Given the description of an element on the screen output the (x, y) to click on. 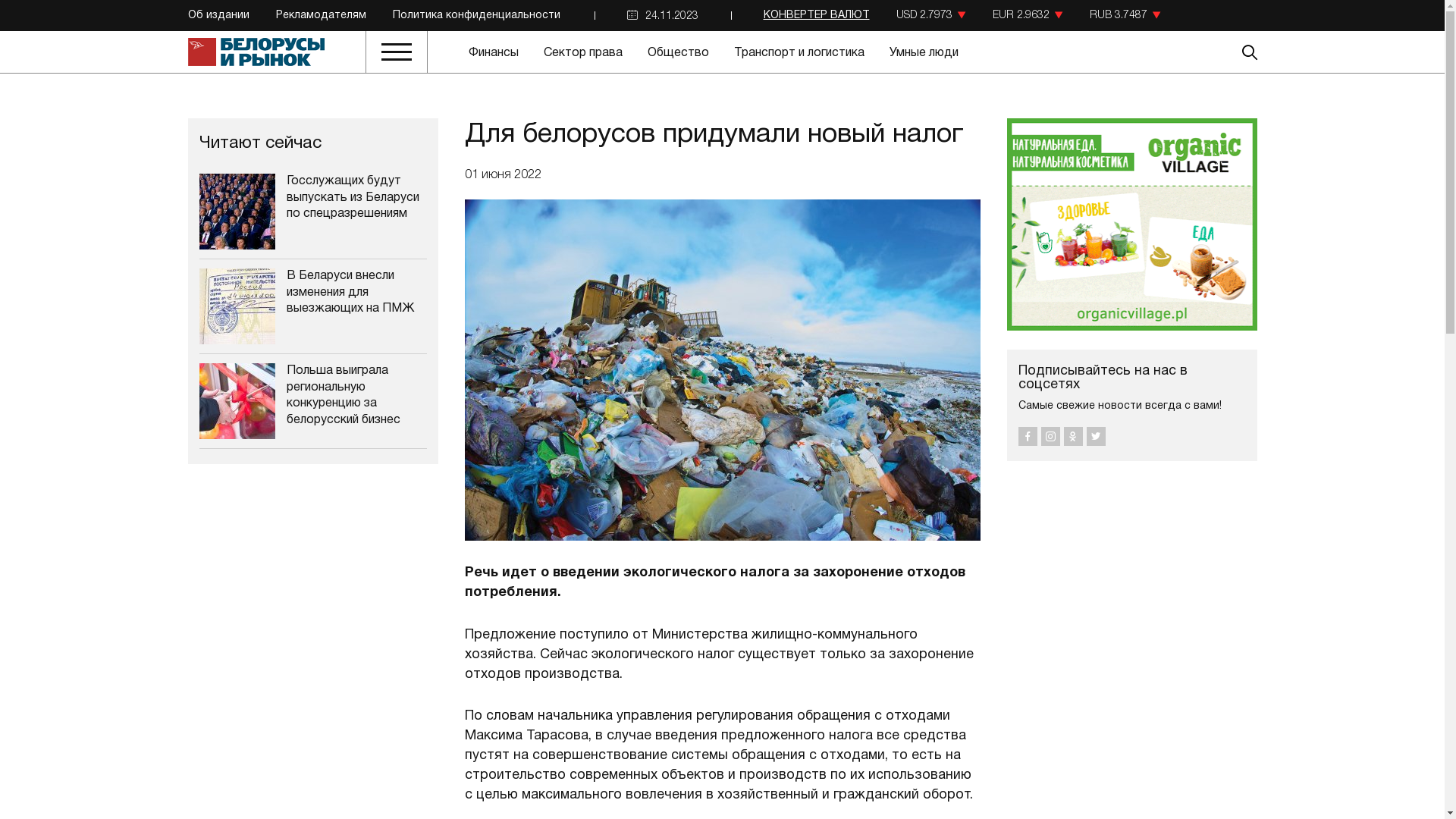
search Element type: text (1203, 51)
